Given the description of an element on the screen output the (x, y) to click on. 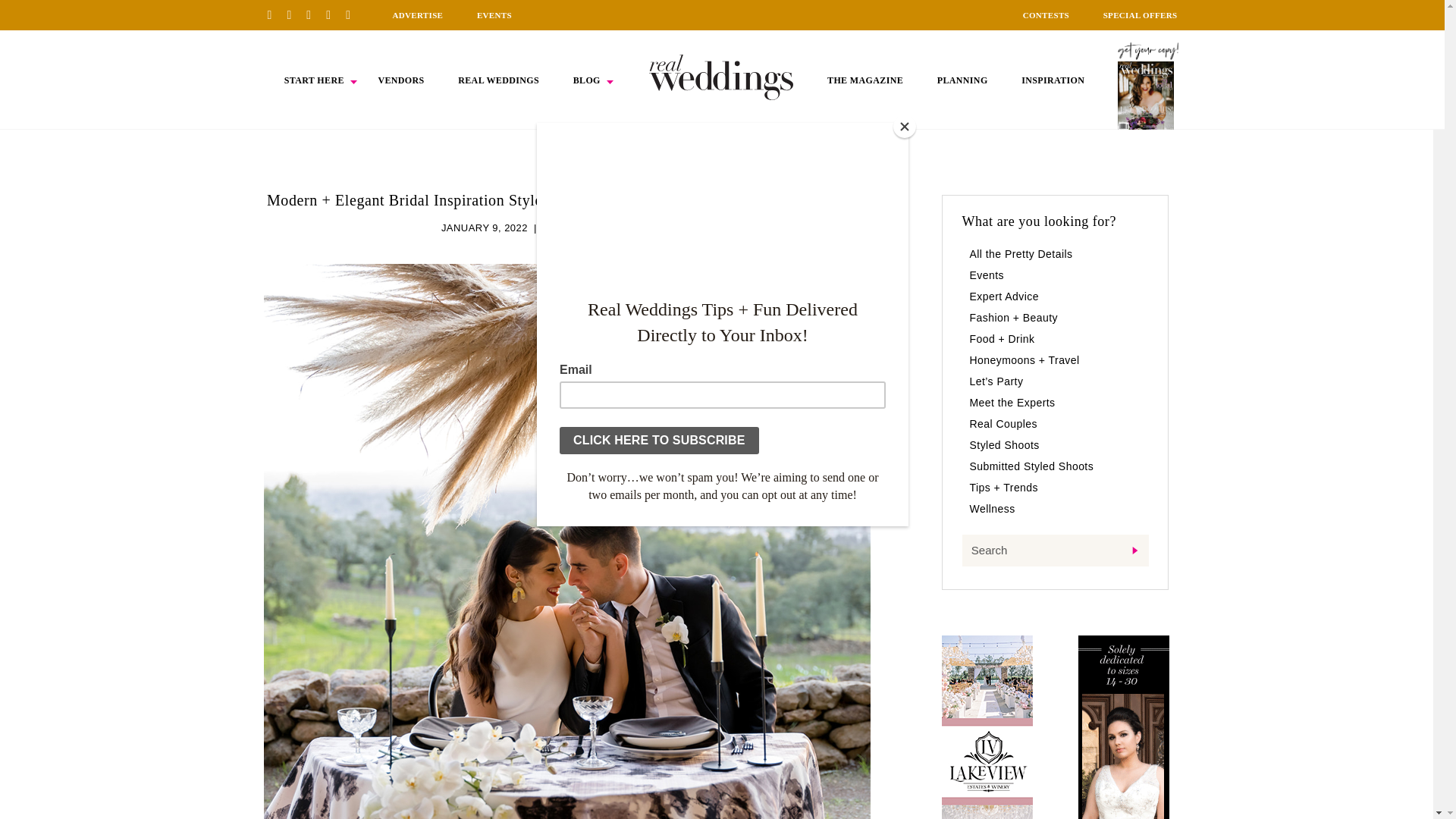
Search (1054, 550)
YouTube (353, 14)
Instagram (313, 14)
VENDORS (400, 80)
ADVERTISE (416, 14)
SPECIAL OFFERS (1140, 14)
START HERE (313, 80)
INSPIRATION (1053, 80)
Search (1054, 550)
REAL WEDDINGS (498, 80)
Pinterest (274, 14)
SUBMITTED STYLED SHOOTS (618, 227)
EVENTS (494, 14)
CONTESTS (1045, 14)
Facebook (294, 14)
